Given the description of an element on the screen output the (x, y) to click on. 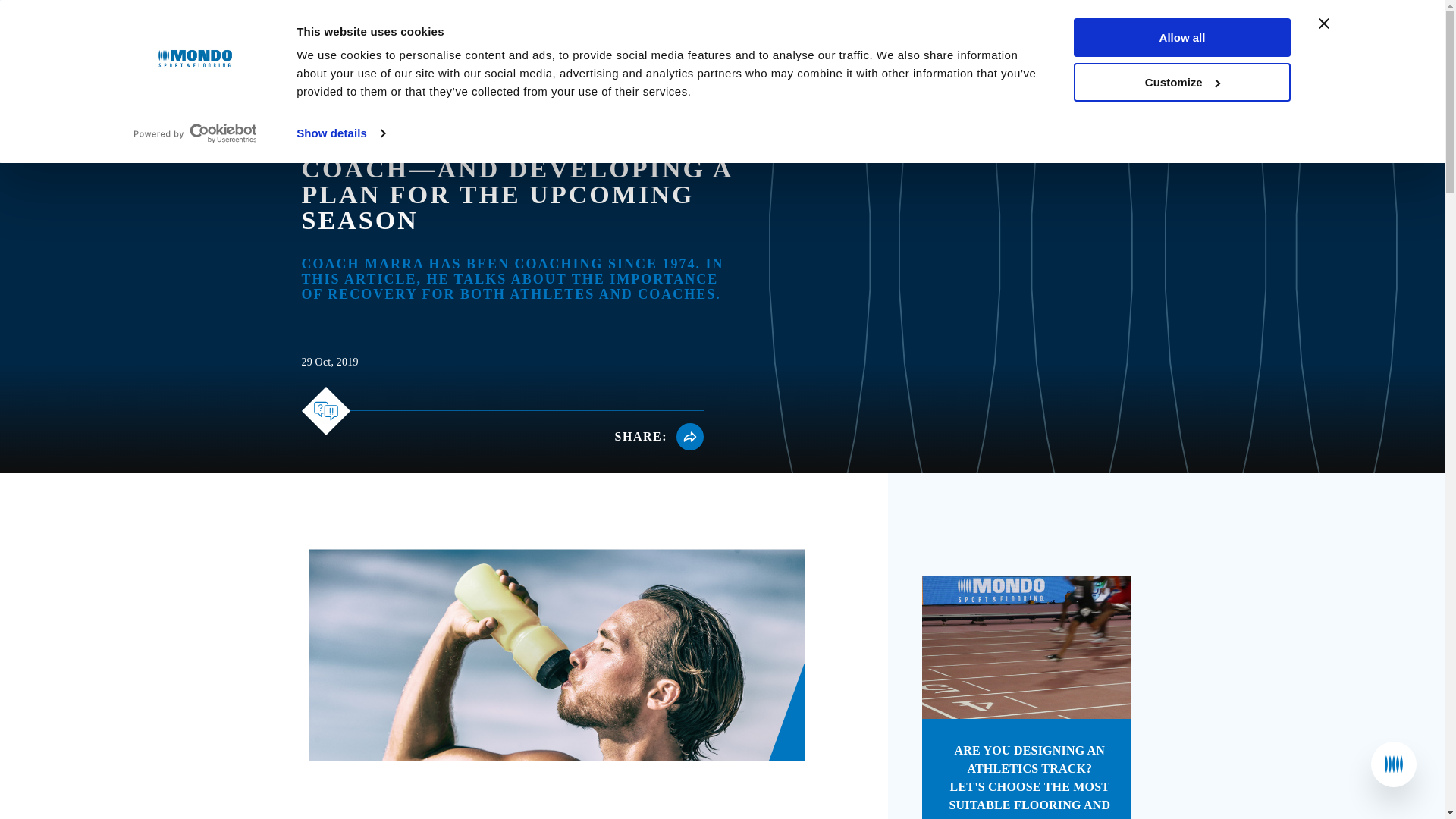
Show details (340, 133)
